Given the description of an element on the screen output the (x, y) to click on. 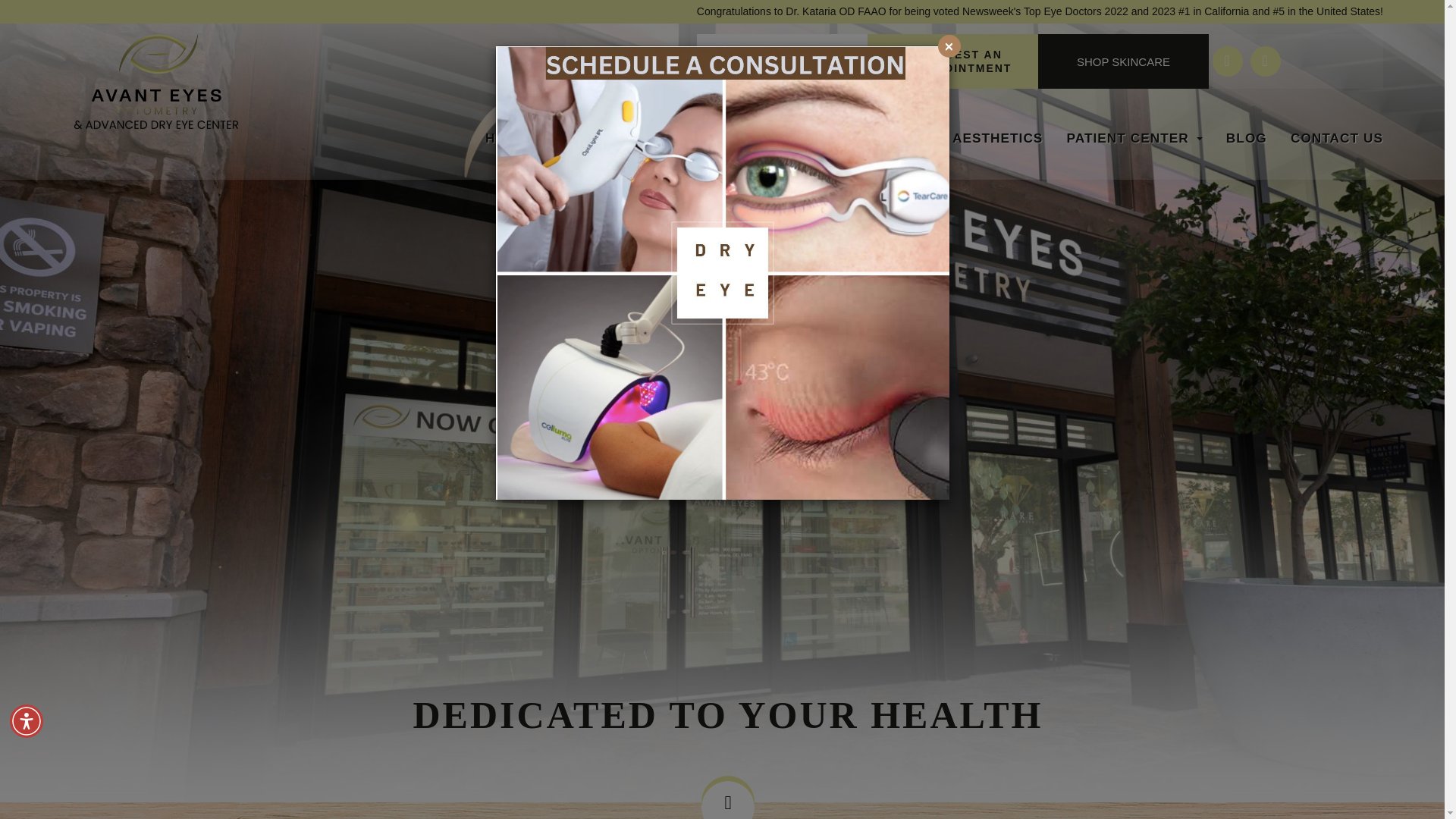
Accessibility Menu (26, 720)
